Given the description of an element on the screen output the (x, y) to click on. 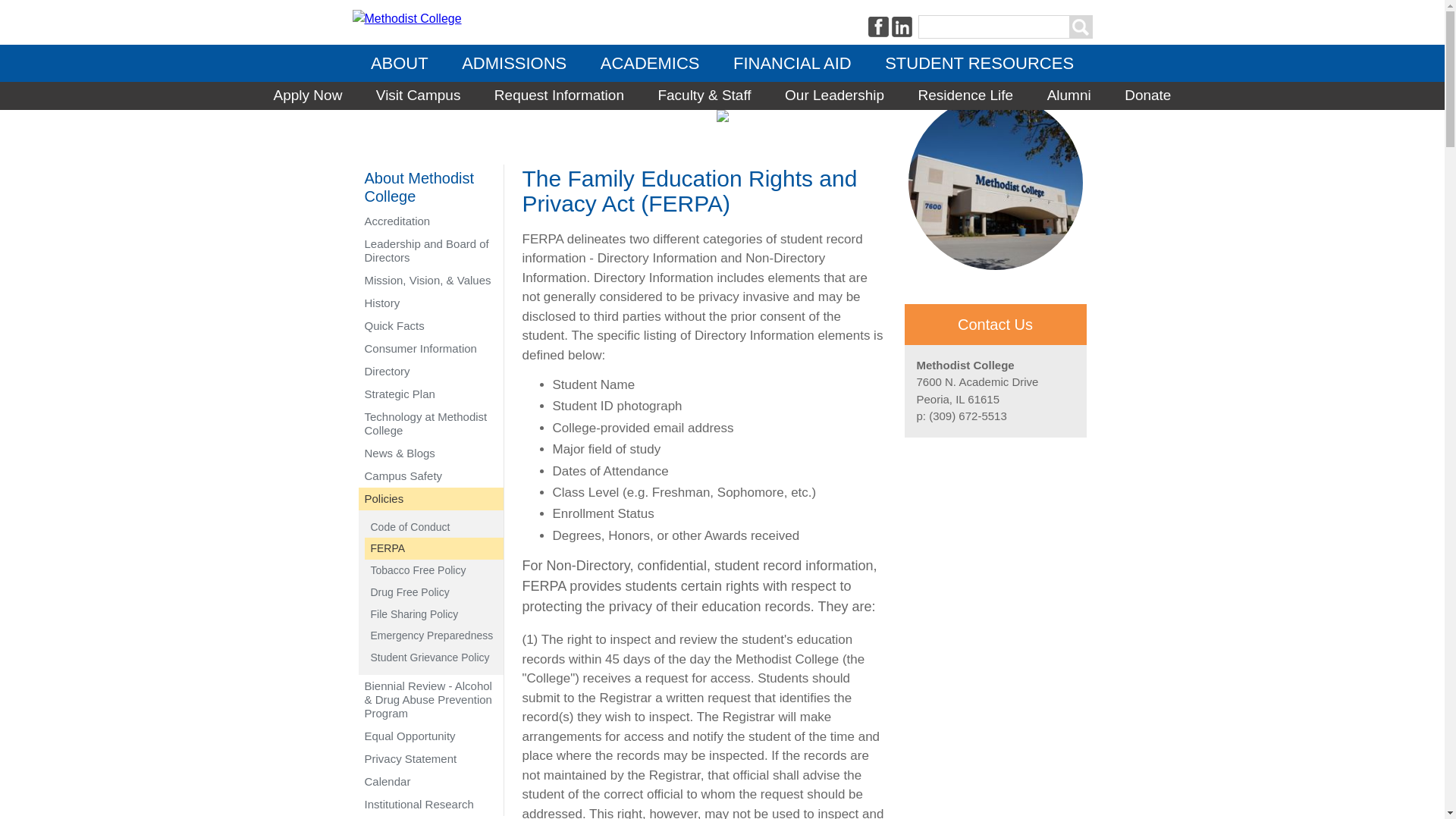
Accreditation (430, 220)
Quick Facts (430, 324)
Directory (430, 370)
Visit Campus (418, 95)
Campus Safety (430, 475)
History (430, 302)
Alumni (1069, 95)
Tobacco Free Policy (433, 570)
File Sharing Policy (433, 614)
Code of Conduct (433, 526)
